Given the description of an element on the screen output the (x, y) to click on. 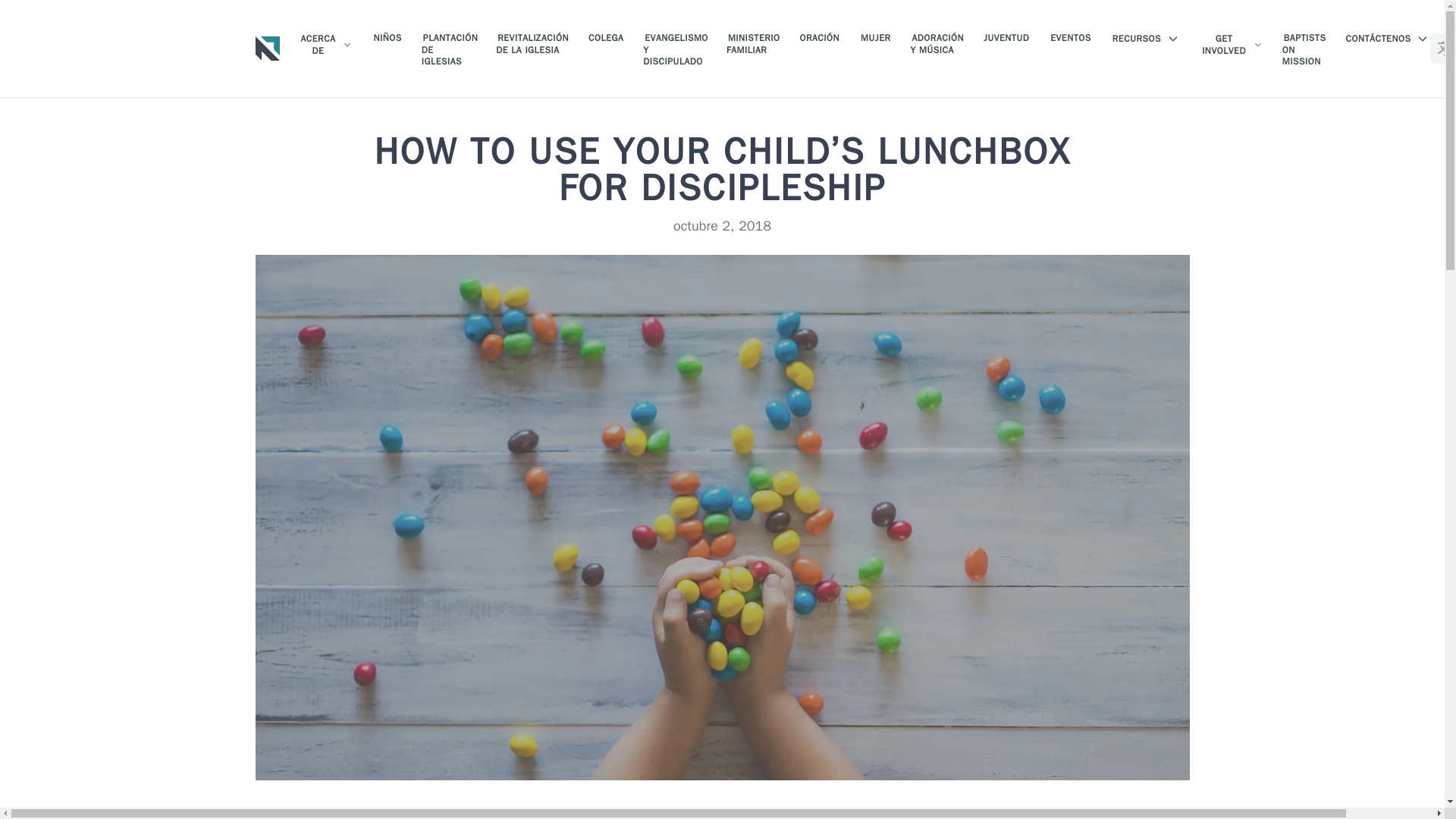
MUJER (875, 38)
EVENTOS (1070, 38)
Baptist State Convention of North Carolina (266, 48)
COLEGA (605, 38)
GET INVOLVED (1230, 45)
MINISTERIO FAMILIAR (753, 44)
BAPTISTS ON MISSION (1304, 50)
RECURSOS (1145, 39)
EVANGELISMO Y DISCIPULADO (675, 50)
JUVENTUD (1005, 38)
